Given the description of an element on the screen output the (x, y) to click on. 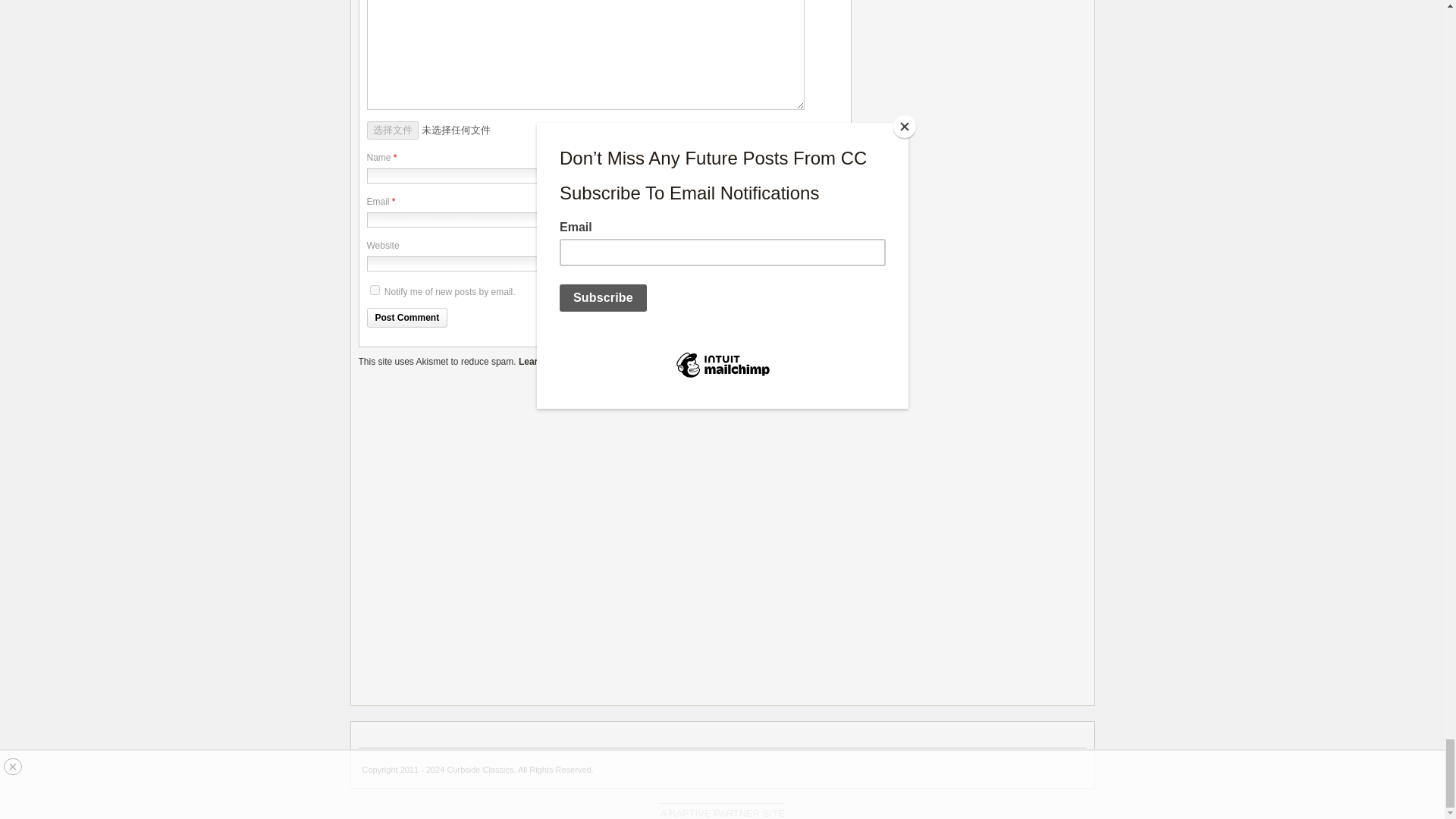
subscribe (374, 289)
Post Comment (407, 317)
